Given the description of an element on the screen output the (x, y) to click on. 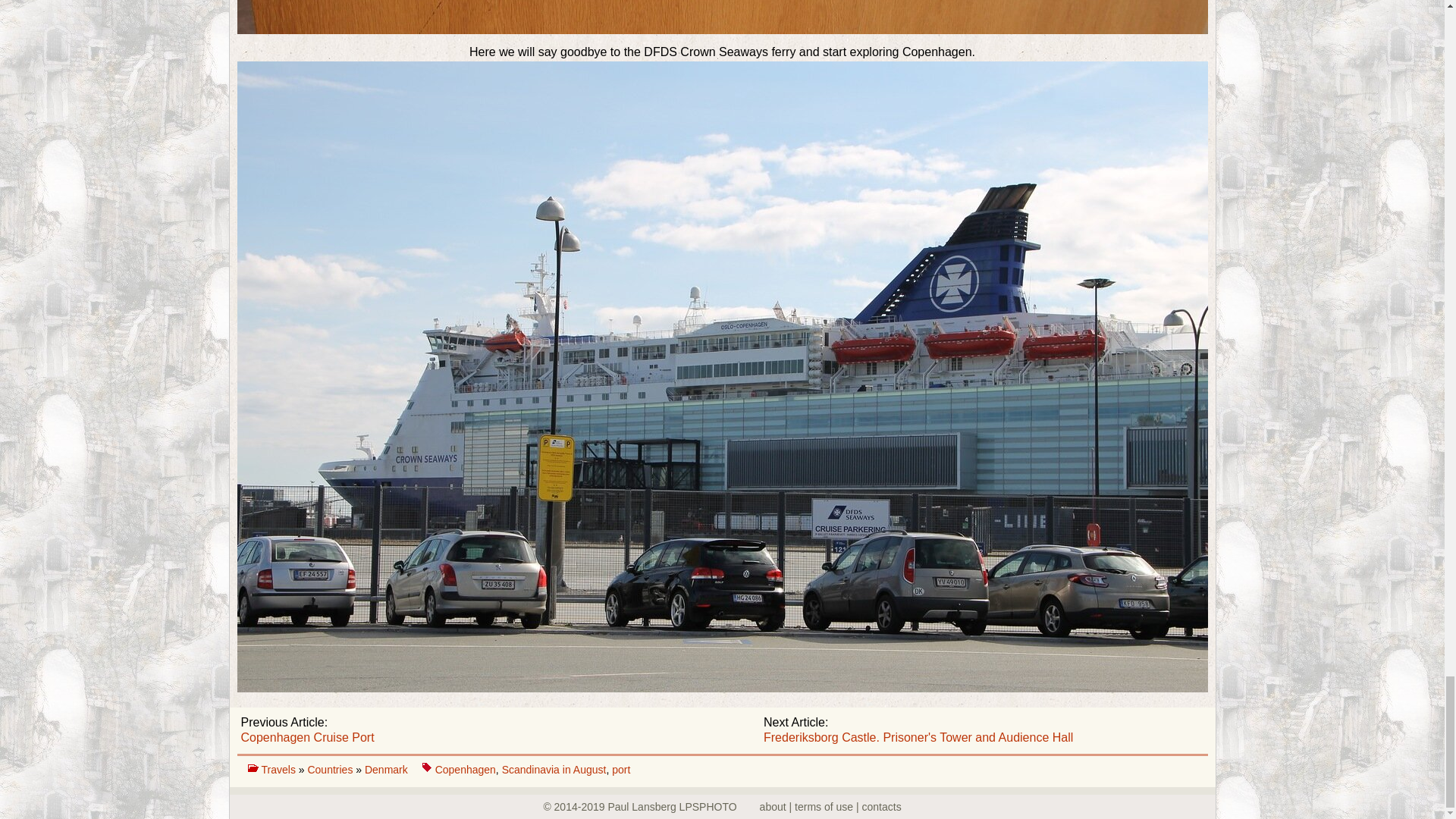
Travels (279, 769)
Denmark (387, 769)
Countries (331, 769)
Copenhagen (465, 769)
Copenhagen Cruise Port (307, 737)
Frederiksborg Castle. Prisoner's Tower and Audience Hall (917, 737)
port (620, 769)
 port of Copenhagen, port Copenhagen, DFDS terminal (721, 17)
Scandinavia in August (554, 769)
